Given the description of an element on the screen output the (x, y) to click on. 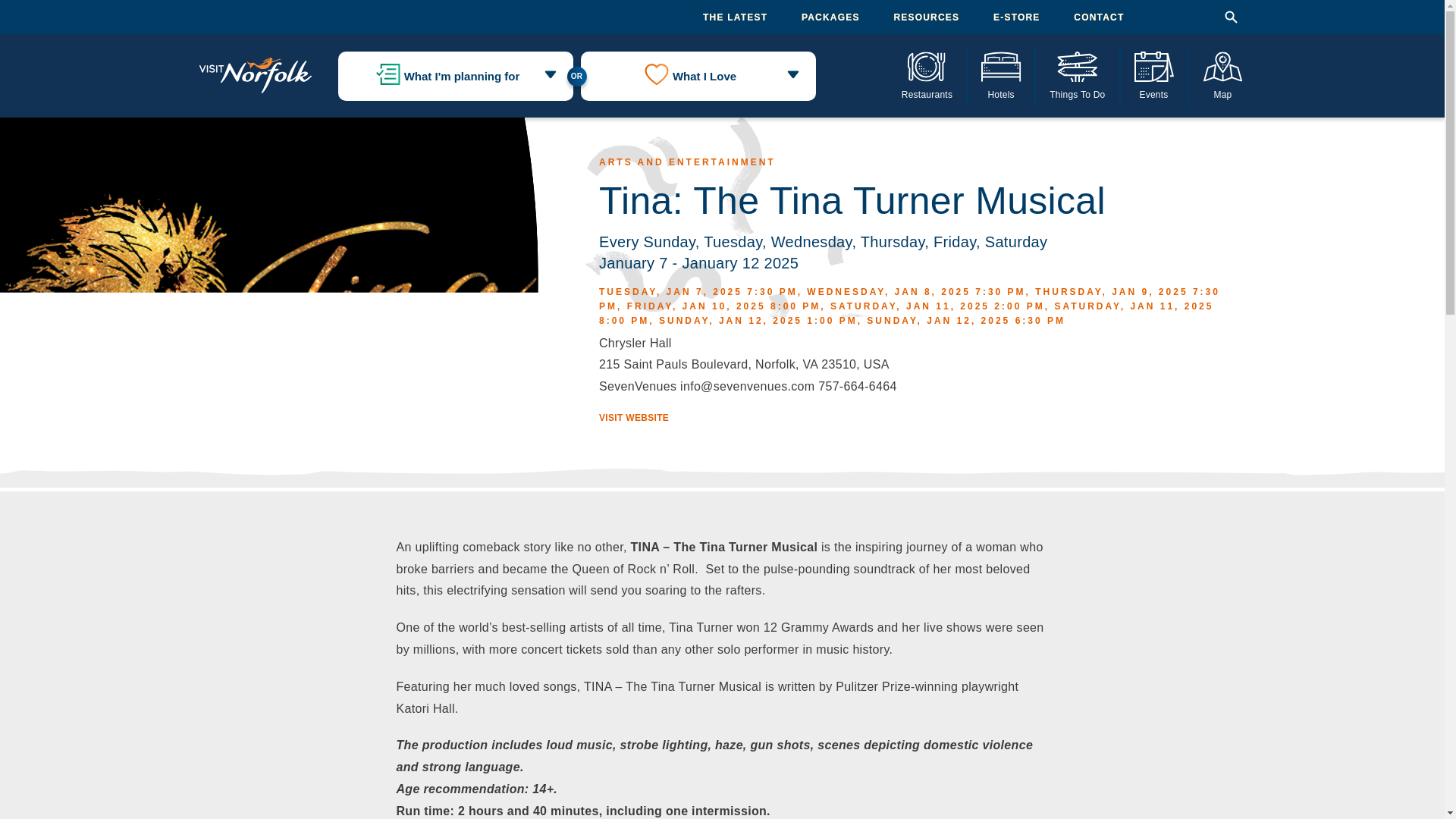
Restaurants (928, 75)
RESOURCES (926, 17)
What I'm planning for (455, 75)
What I Love (697, 75)
Search (1230, 16)
Visit Norfolk (254, 75)
Things To Do (1077, 75)
PACKAGES (831, 17)
VISIT WEBSITE (633, 417)
CONTACT (1099, 17)
